Given the description of an element on the screen output the (x, y) to click on. 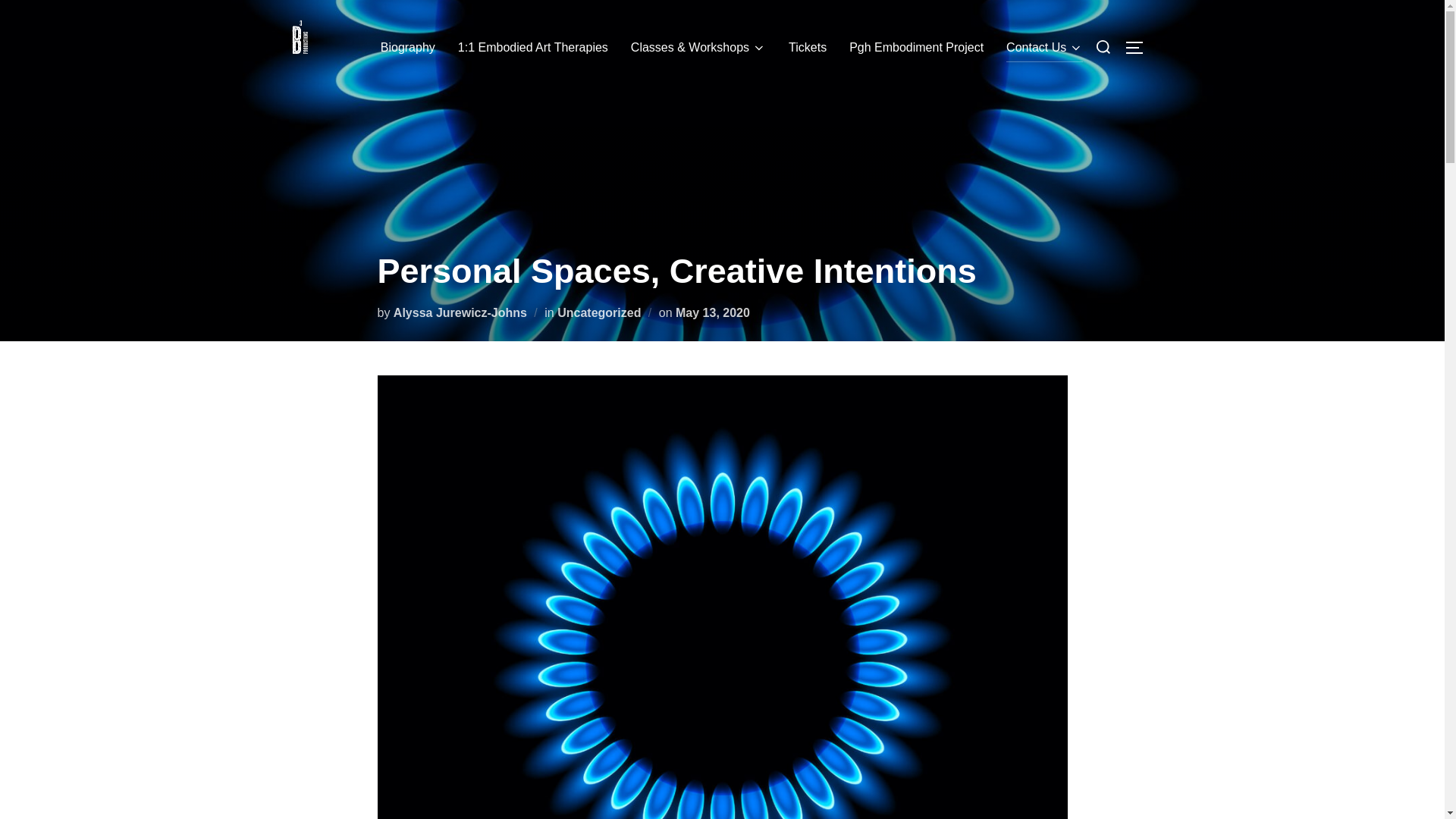
Contact Us (1044, 47)
May 13, 2020 (712, 312)
Tickets (808, 47)
Uncategorized (598, 312)
1:1 Embodied Art Therapies (533, 47)
Alyssa Jurewicz-Johns (460, 312)
Pgh Embodiment Project (916, 47)
Biography (407, 47)
